Given the description of an element on the screen output the (x, y) to click on. 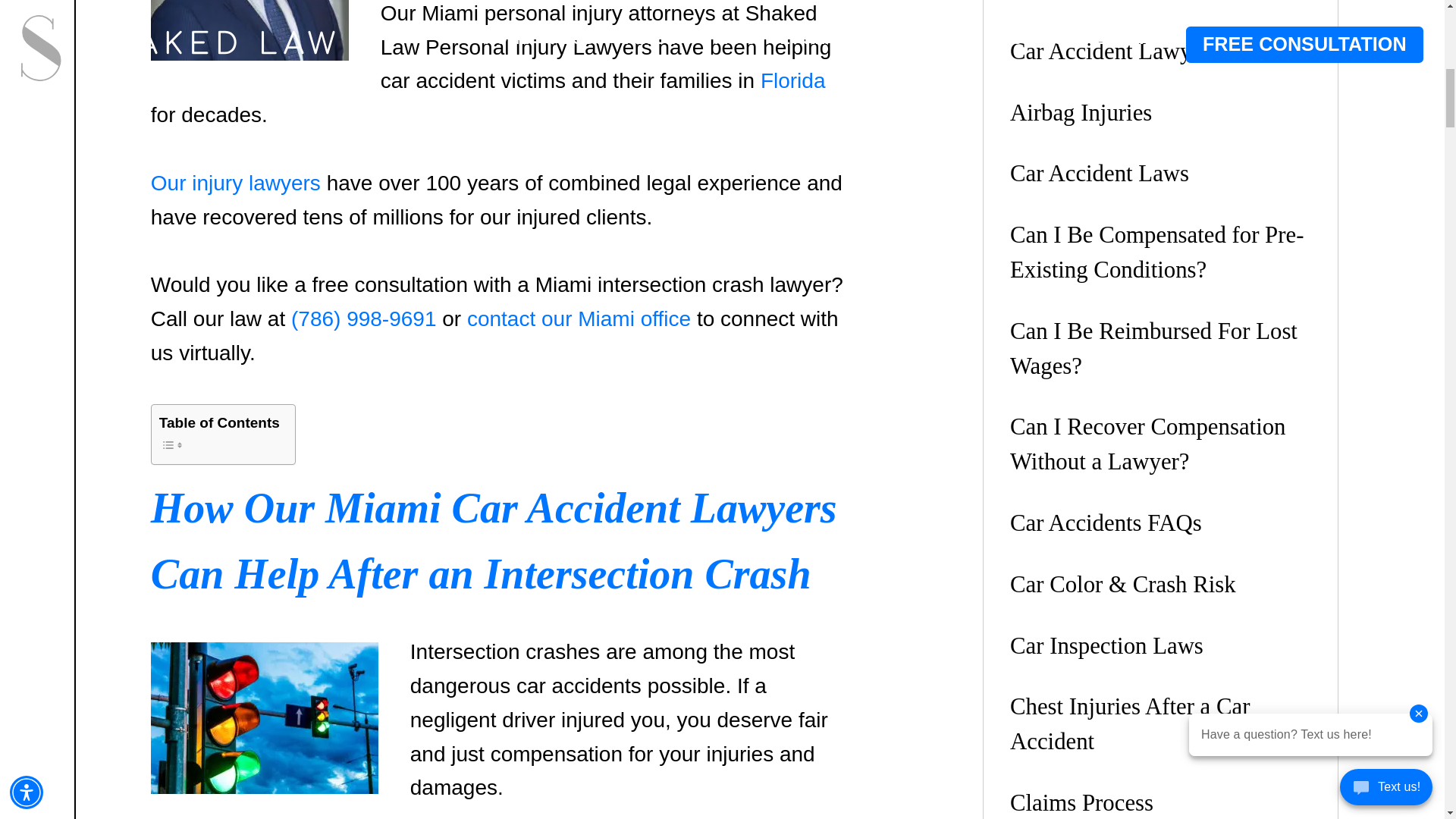
contact our Miami office (578, 318)
Florida (792, 80)
Our injury lawyers (235, 182)
